Given the description of an element on the screen output the (x, y) to click on. 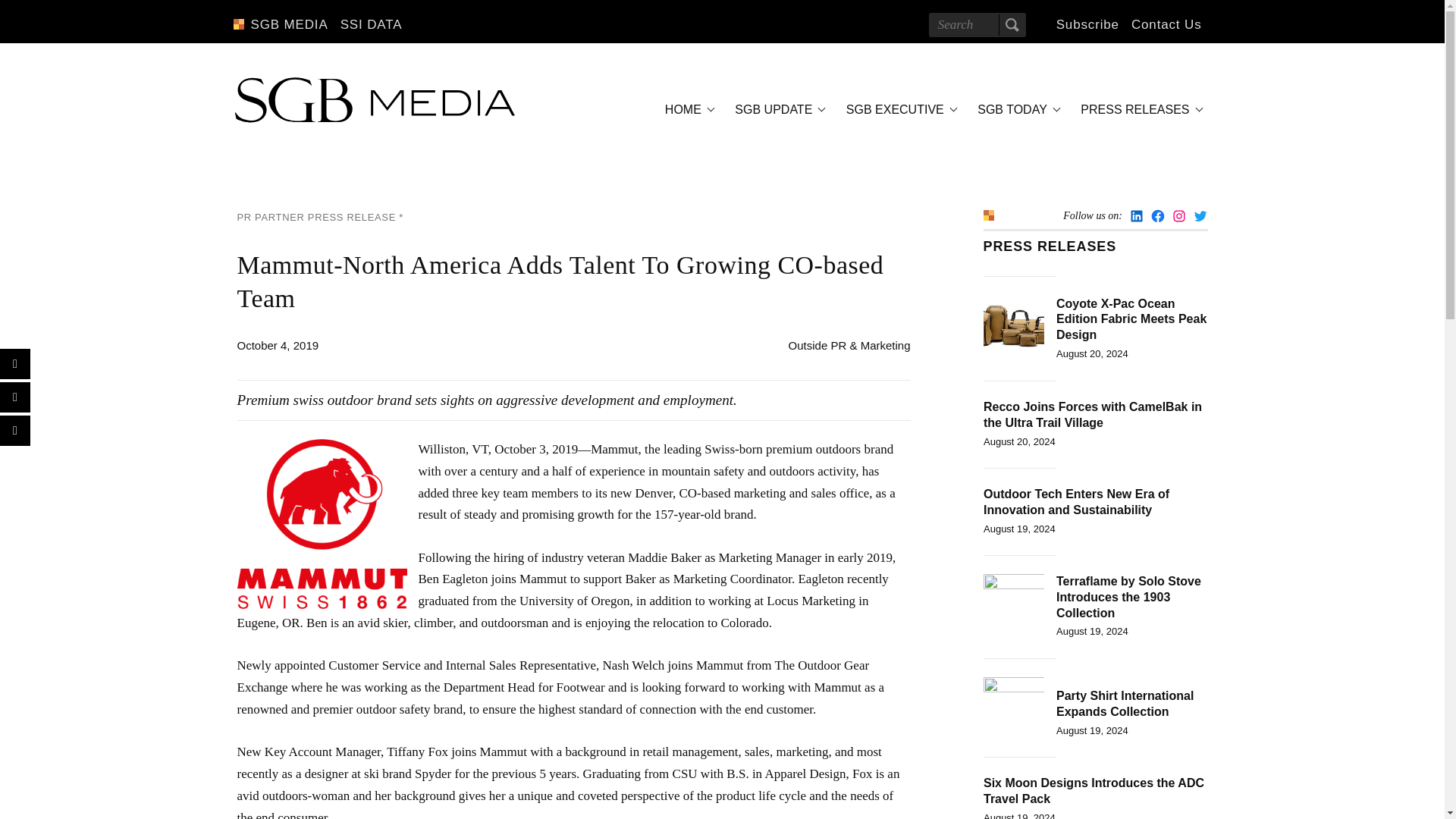
SGB UPDATE (777, 109)
SGB MEDIA (288, 24)
Search for: (977, 24)
SGB EXECUTIVE (899, 109)
SSI DATA (371, 24)
Contact Us (1166, 24)
PRESS RELEASES (1139, 109)
Subscribe (1087, 24)
HOME (687, 109)
SGB TODAY (1016, 109)
